Given the description of an element on the screen output the (x, y) to click on. 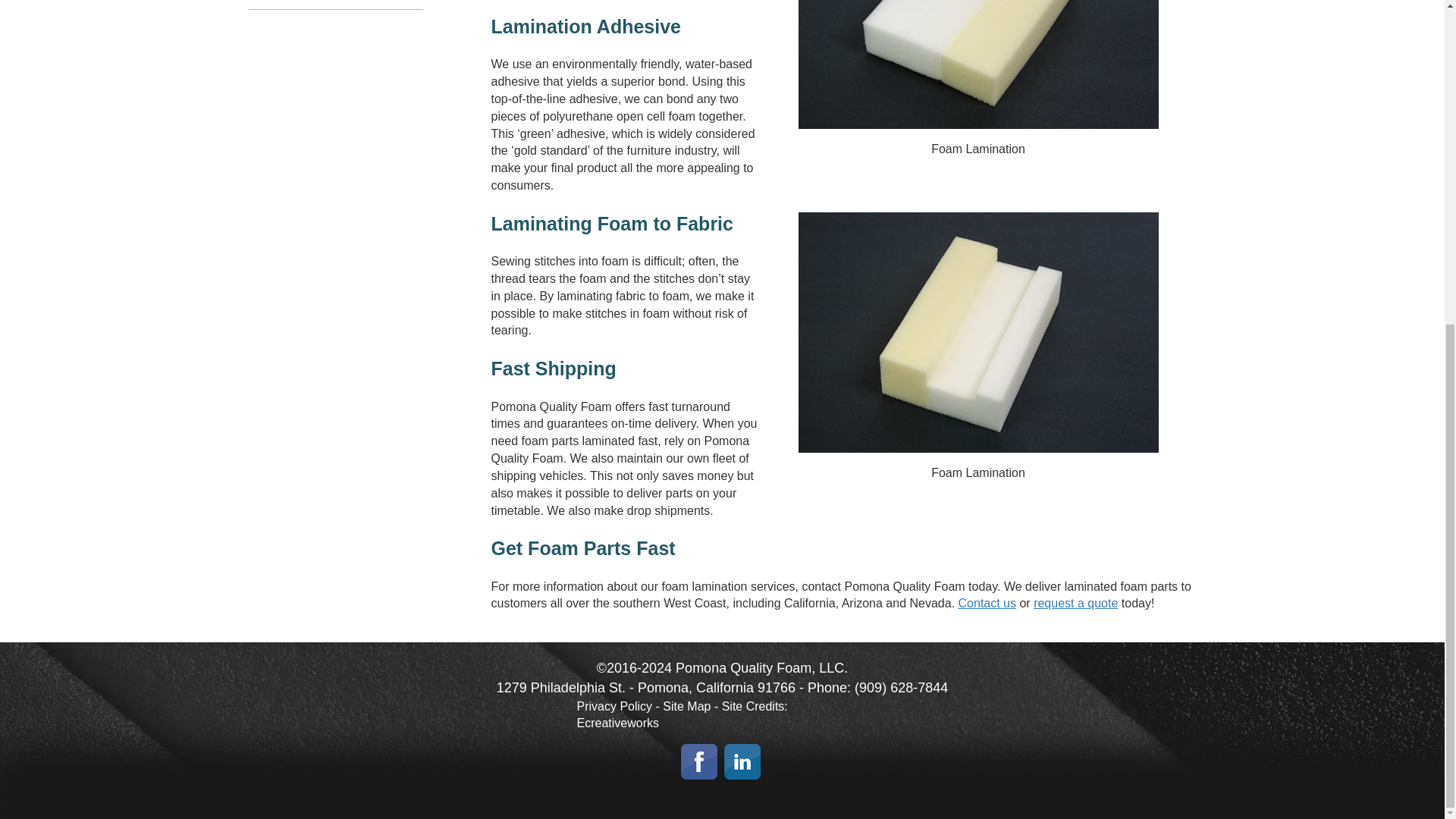
Contact us (987, 603)
Foam Fabrication (977, 64)
Foam Lamination (977, 332)
request a quote (1075, 603)
Industrial Internet Marketing (617, 722)
